Given the description of an element on the screen output the (x, y) to click on. 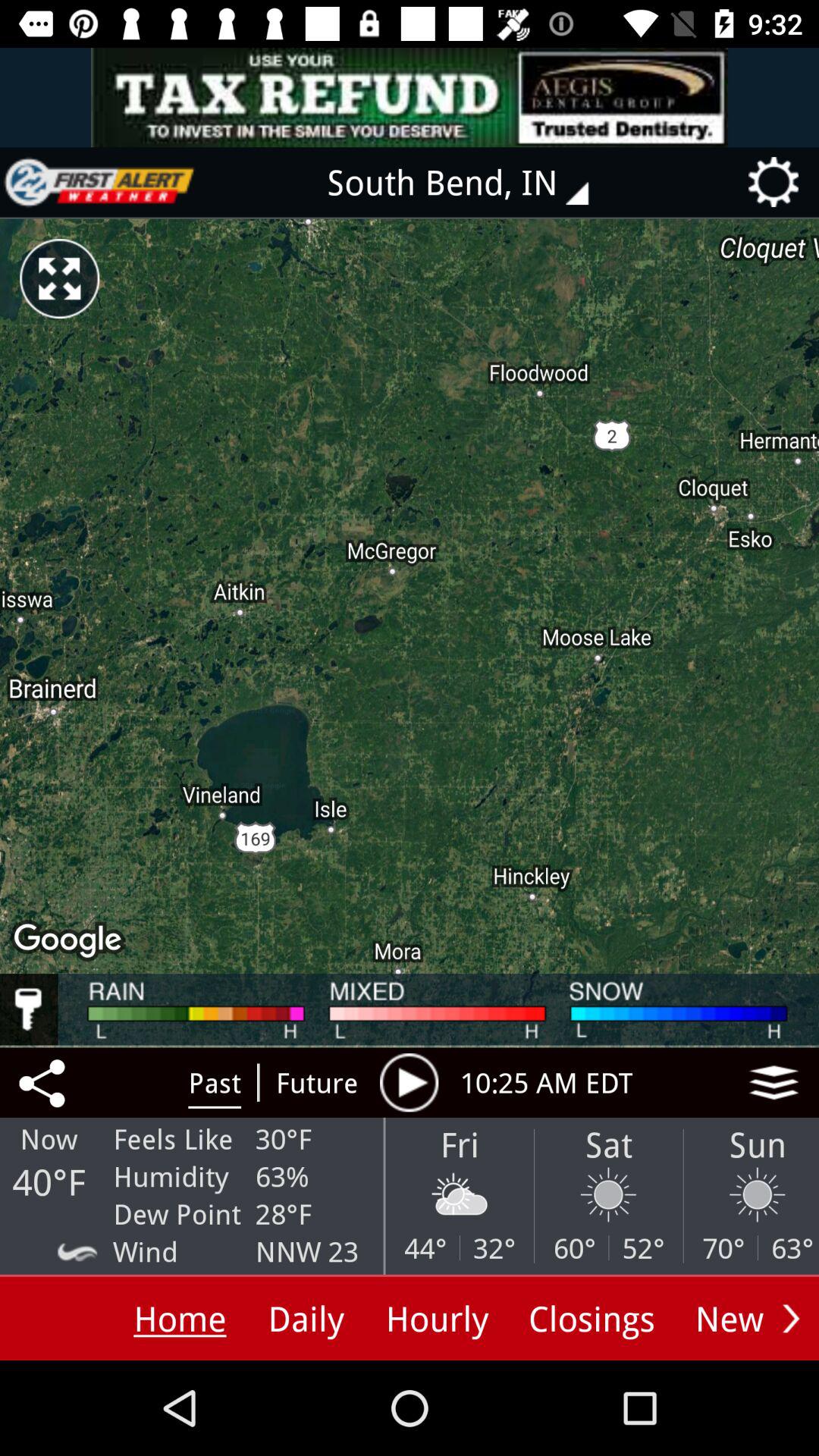
show next (791, 1318)
